Given the description of an element on the screen output the (x, y) to click on. 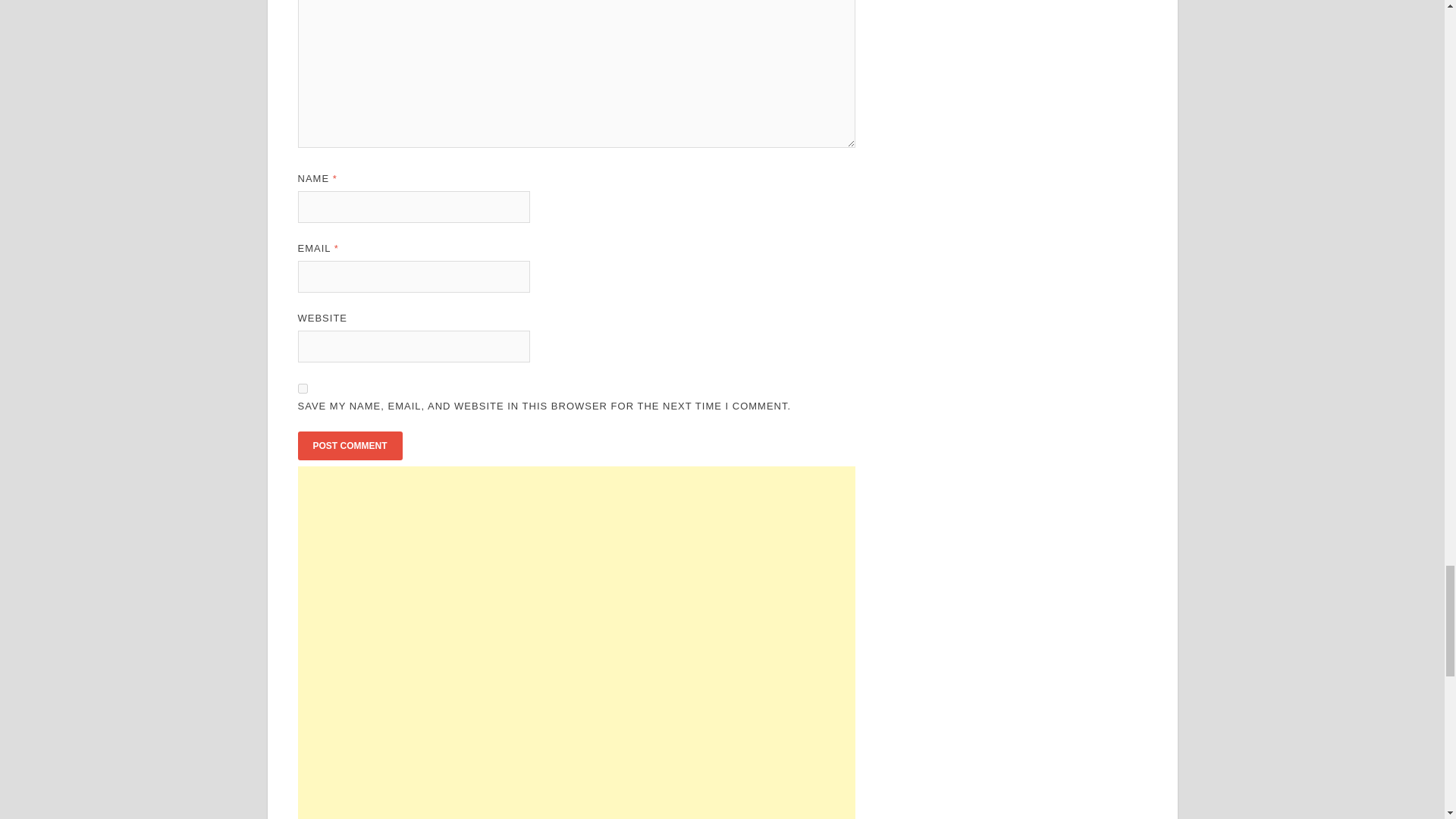
Post Comment (349, 445)
yes (302, 388)
Post Comment (349, 445)
